Given the description of an element on the screen output the (x, y) to click on. 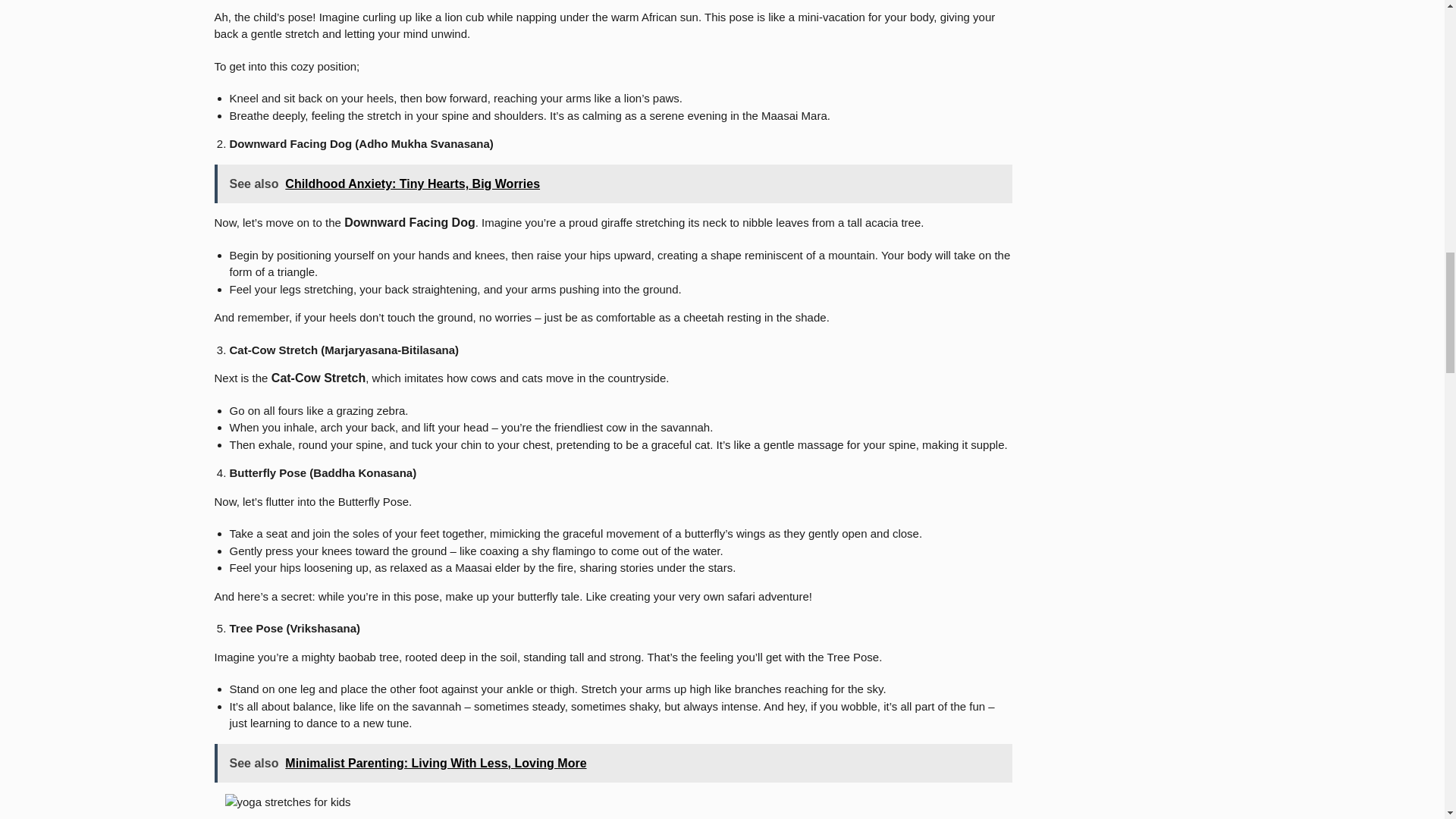
See also  Childhood Anxiety: Tiny Hearts, Big Worries (612, 183)
Downward Facing Dog (408, 222)
Cat-Cow Stretch (316, 377)
